Given the description of an element on the screen output the (x, y) to click on. 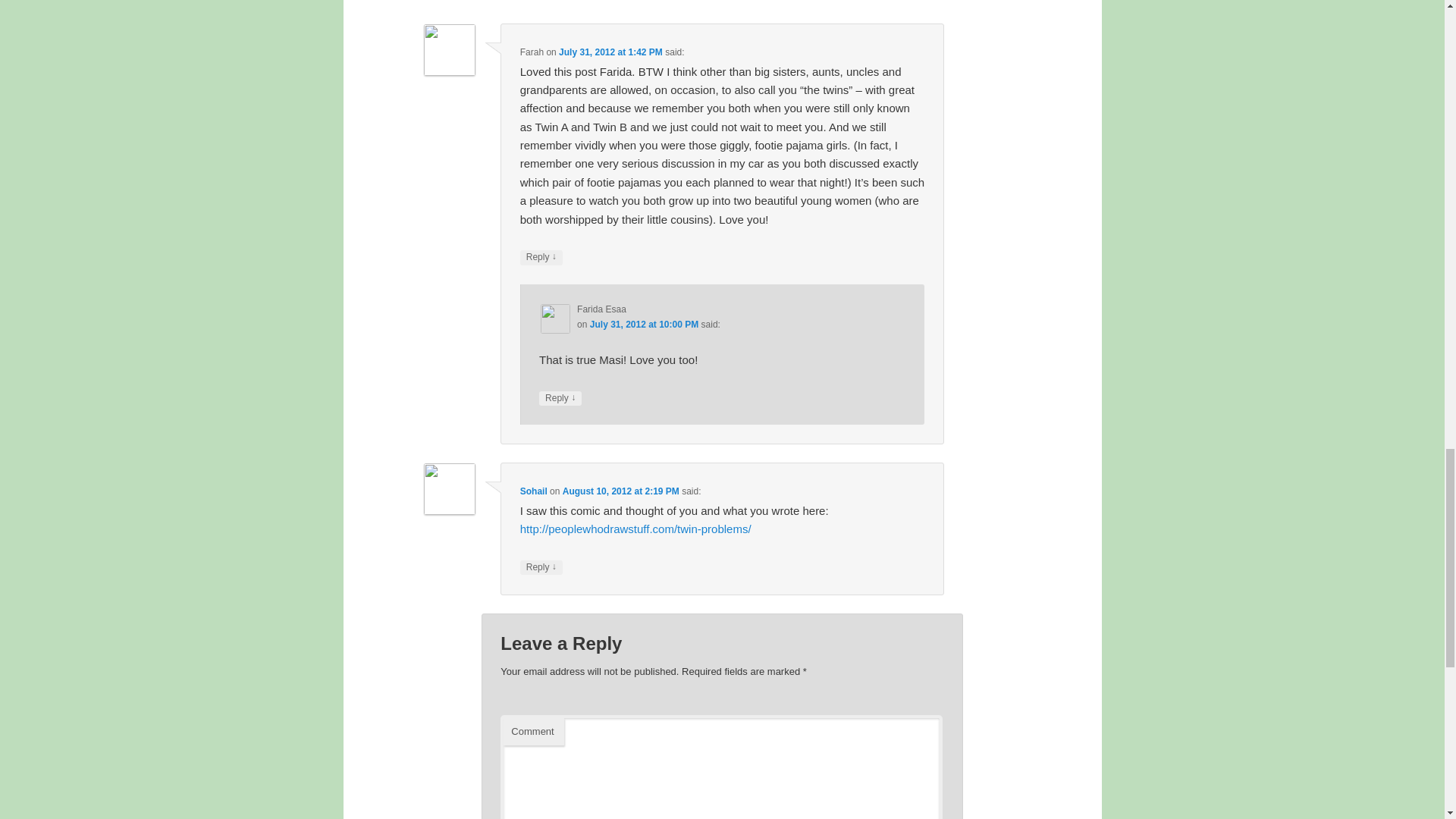
July 31, 2012 at 1:42 PM (610, 51)
August 10, 2012 at 2:19 PM (620, 491)
Sohail (533, 491)
July 31, 2012 at 10:00 PM (643, 324)
